Given the description of an element on the screen output the (x, y) to click on. 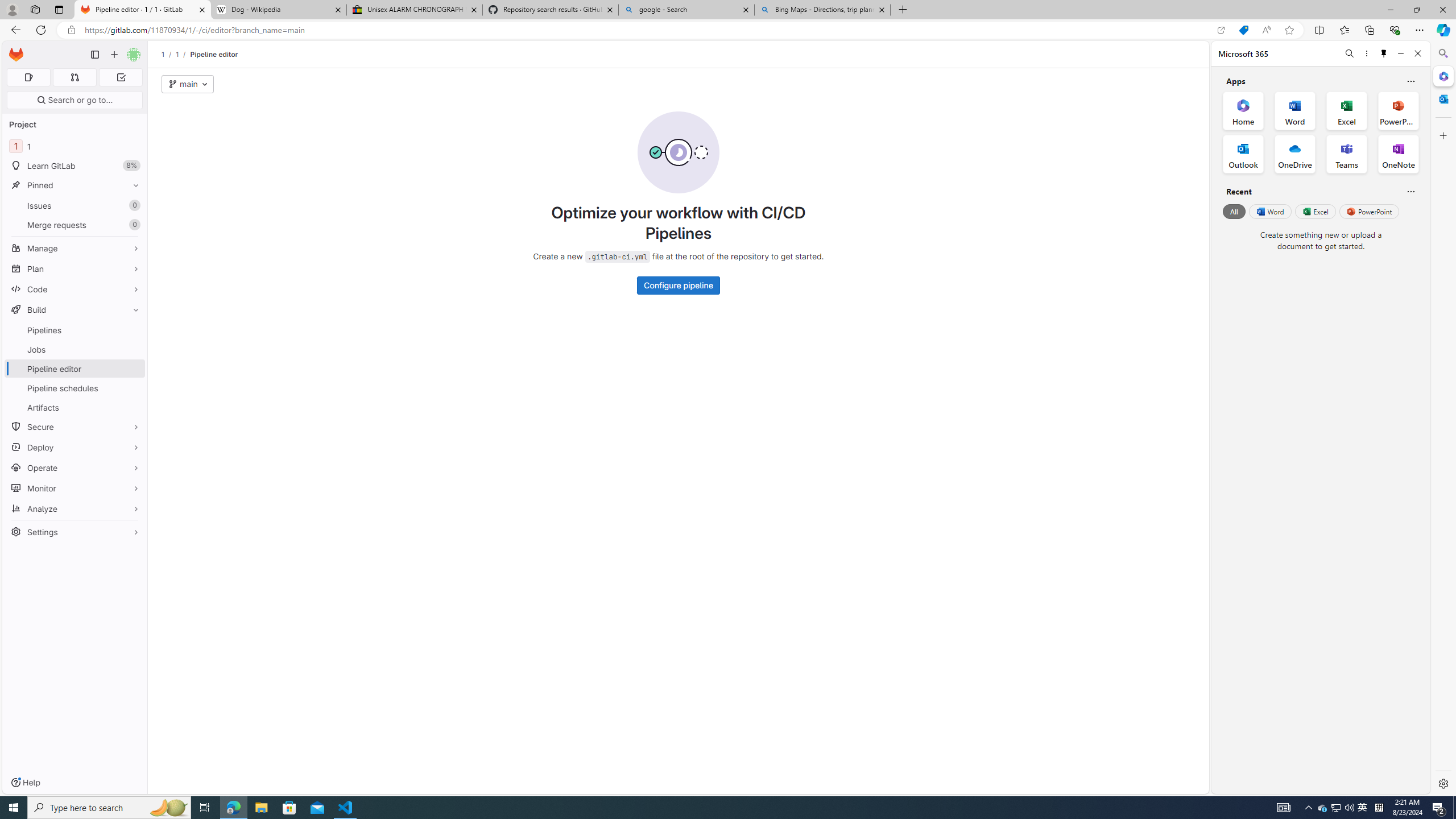
Dog - Wikipedia (277, 9)
Code (74, 289)
BuildPipelinesJobsPipeline editorPipeline schedulesArtifacts (74, 358)
Unpin Merge requests (132, 224)
Home Office App (1243, 110)
Pinned (74, 185)
Pipeline editor (213, 53)
Code (74, 289)
Pipelines (74, 330)
Secure (74, 426)
Configure pipeline (678, 285)
